Given the description of an element on the screen output the (x, y) to click on. 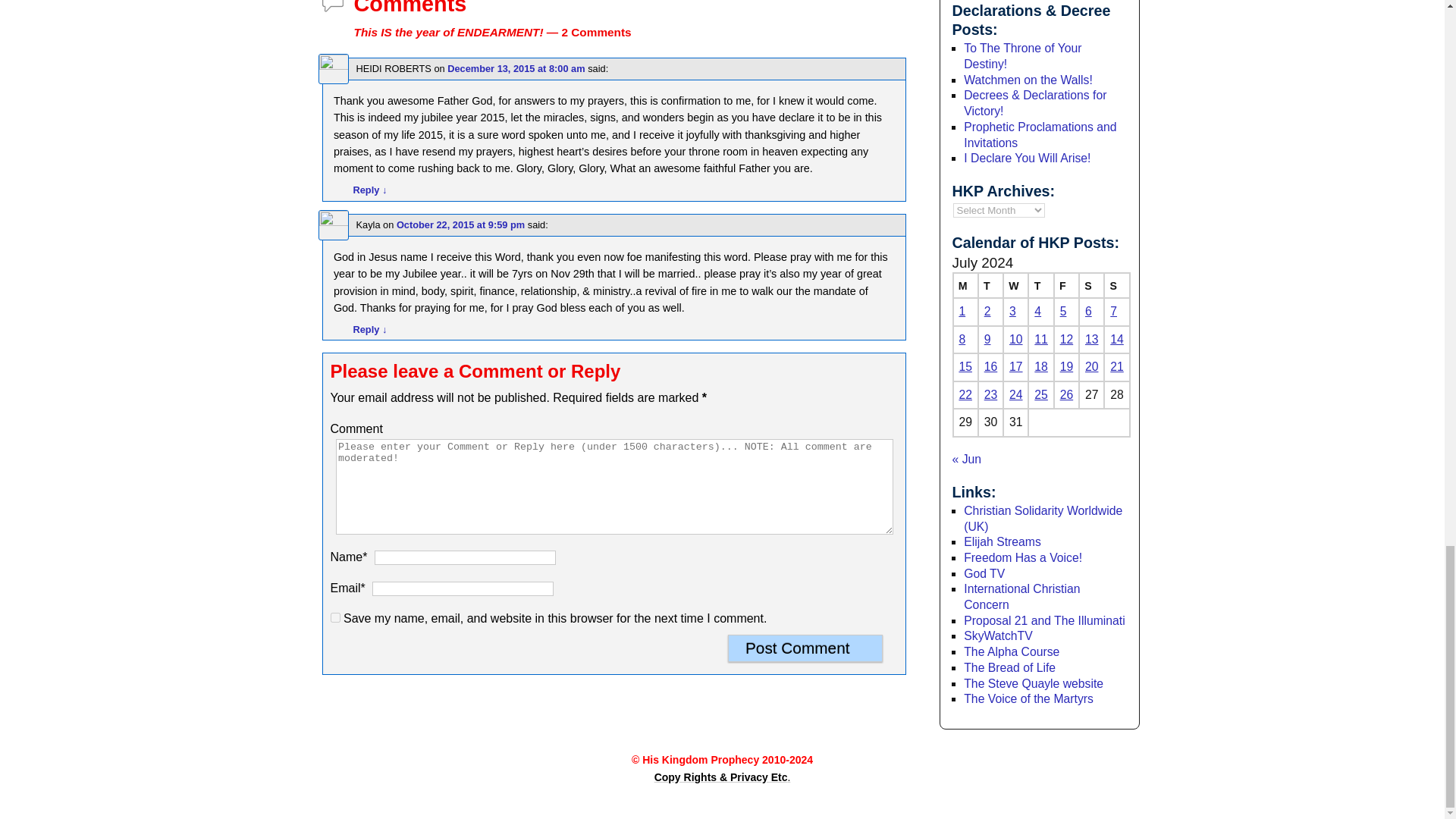
Friday (1066, 285)
Sunday (1116, 285)
Monday (964, 285)
Saturday (1090, 285)
Wednesday (1015, 285)
yes (335, 617)
Tuesday (990, 285)
Thursday (1039, 285)
Post Comment (805, 647)
